Given the description of an element on the screen output the (x, y) to click on. 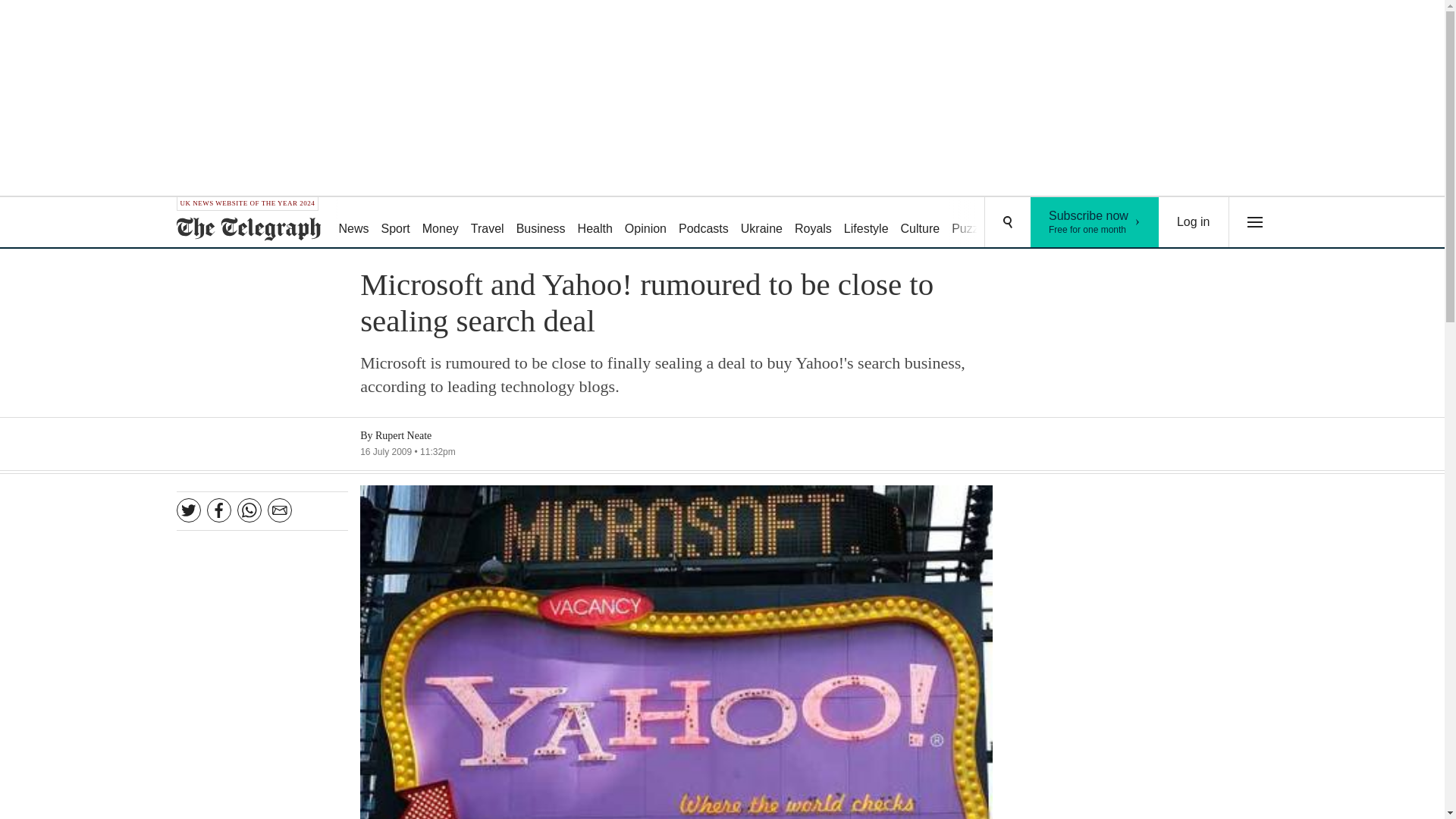
Opinion (645, 223)
Travel (487, 223)
Log in (1094, 222)
Puzzles (1193, 222)
Health (972, 223)
Business (595, 223)
Culture (541, 223)
Money (920, 223)
Podcasts (440, 223)
Lifestyle (703, 223)
Royals (866, 223)
Ukraine (813, 223)
